Given the description of an element on the screen output the (x, y) to click on. 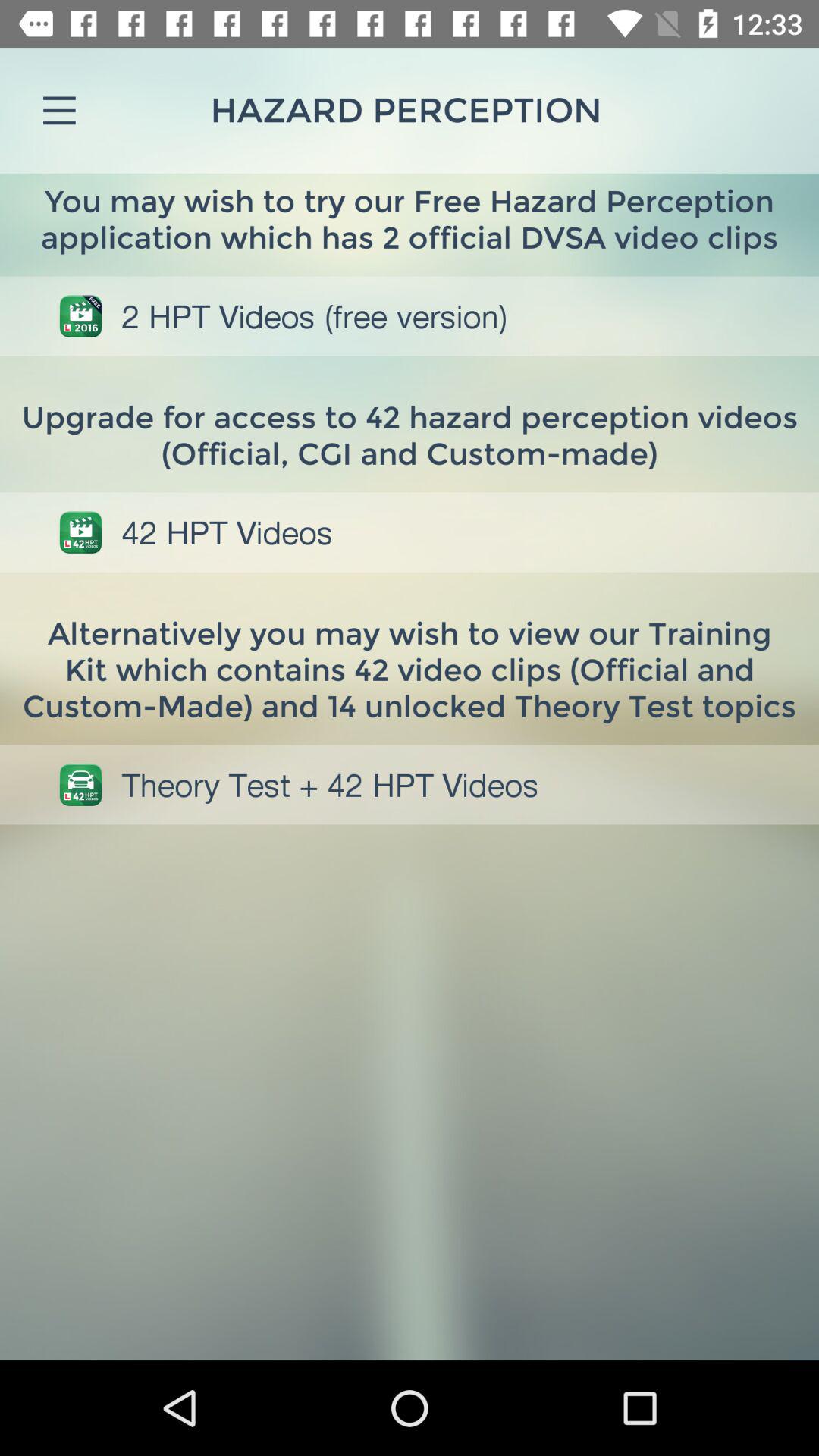
select the icon which is beside 42 hpt videos (80, 532)
click on the icon which is beside theory test  42 hpt videos (80, 784)
click on the menu bar (59, 110)
